Given the description of an element on the screen output the (x, y) to click on. 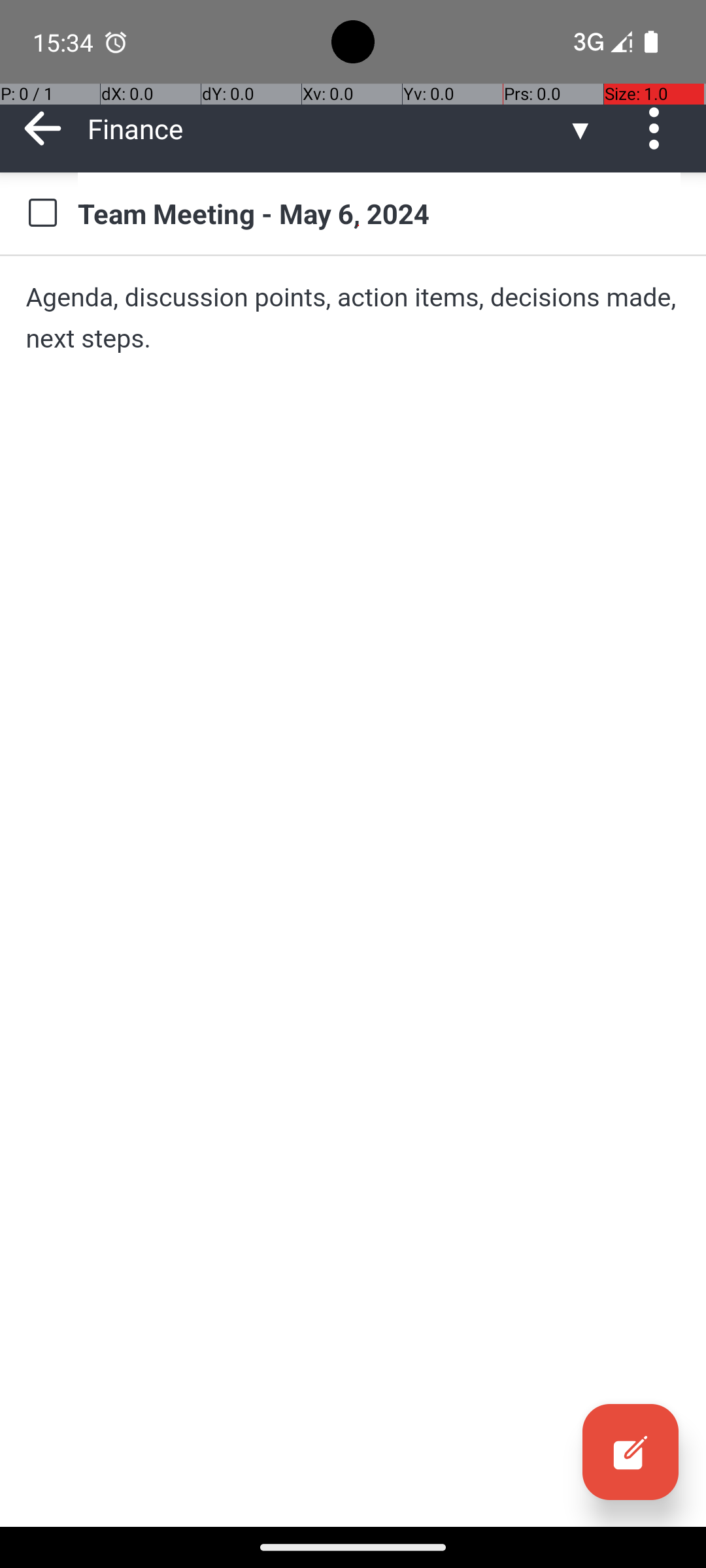
Agenda, discussion points, action items, decisions made, next steps. Element type: android.widget.TextView (352, 317)
